Given the description of an element on the screen output the (x, y) to click on. 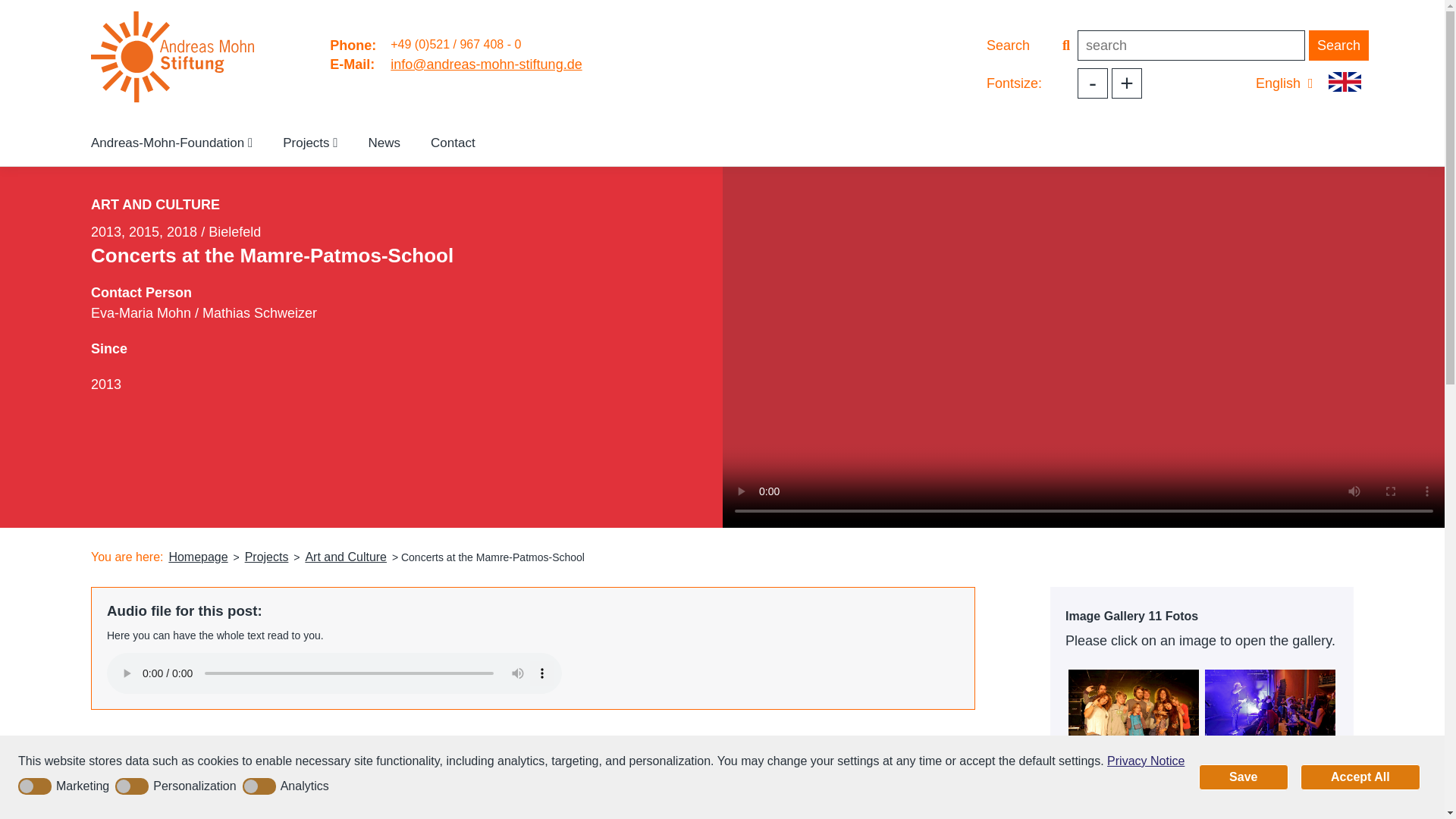
Homepage (197, 556)
Band members sign autographes for the pupils (1270, 791)
Contact (452, 143)
Projects (309, 143)
News (384, 143)
Projects (267, 556)
Privacy Notice (1145, 761)
Marketing (66, 786)
- (1092, 82)
Personalization (178, 786)
Accept All (1360, 777)
Analytics (288, 786)
Kids pose with band Madsen (1133, 712)
Andreas-Mohn-Foundation (171, 143)
Kids sing together with the band  Donots on the stage (1133, 791)
